Given the description of an element on the screen output the (x, y) to click on. 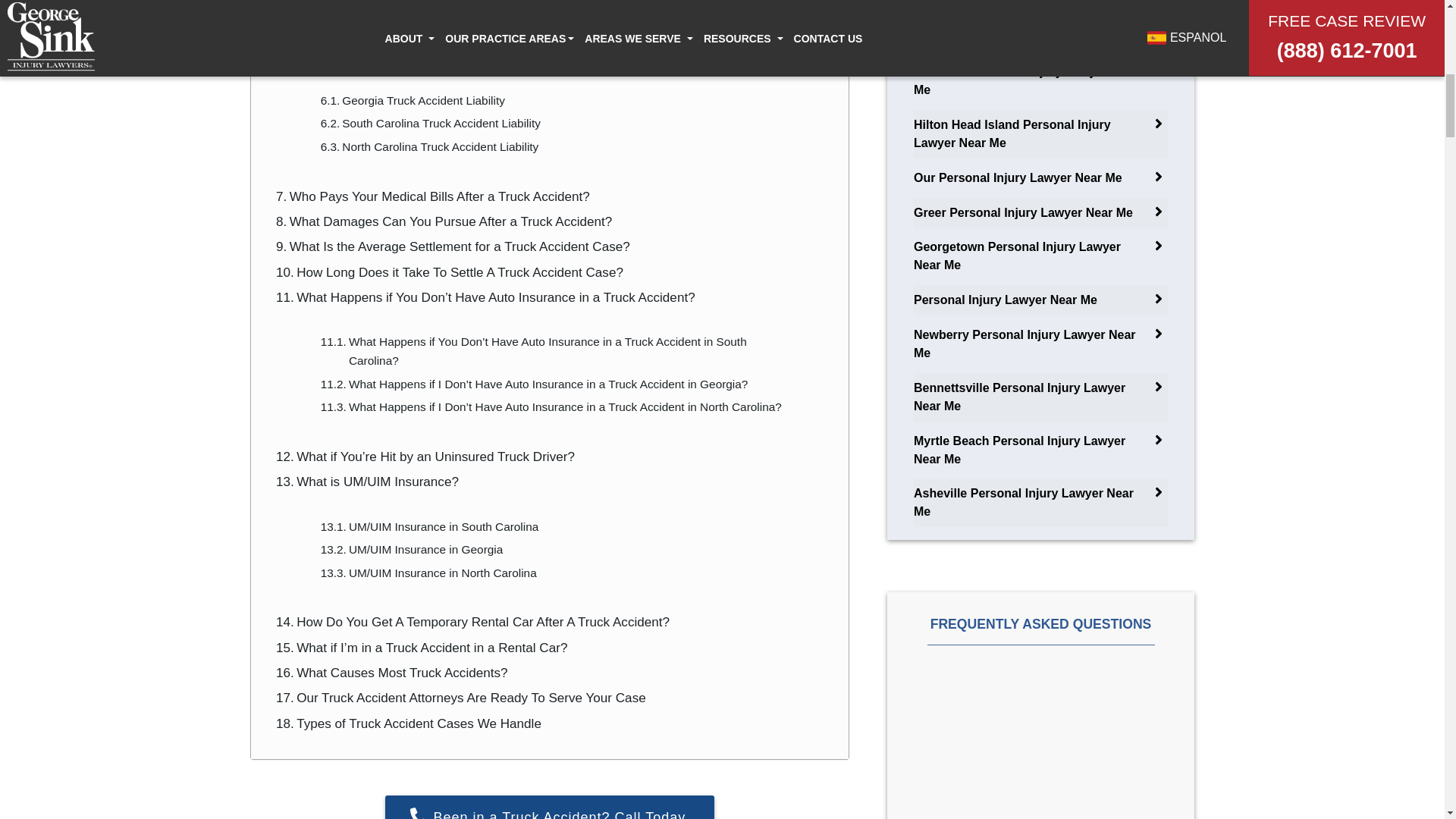
When Should You Contact a Truck Accident Lawyer? (434, 7)
What Is the Average Settlement for a Truck Accident Case? (453, 246)
Who Pays Your Medical Bills After a Truck Accident? (432, 196)
What Damages Can You Pursue After a Truck Accident? (443, 221)
How Long Does it Take To Settle A Truck Accident Case? (449, 272)
South Carolina Truck Accident Liability (430, 123)
North Carolina Truck Accident Liability (429, 147)
Who Is Liable for Your Injuries in a Truck Accident? (428, 55)
Georgia Truck Accident Liability (412, 100)
What Are the Most Common Truck Accident Injuries? (434, 30)
